Given the description of an element on the screen output the (x, y) to click on. 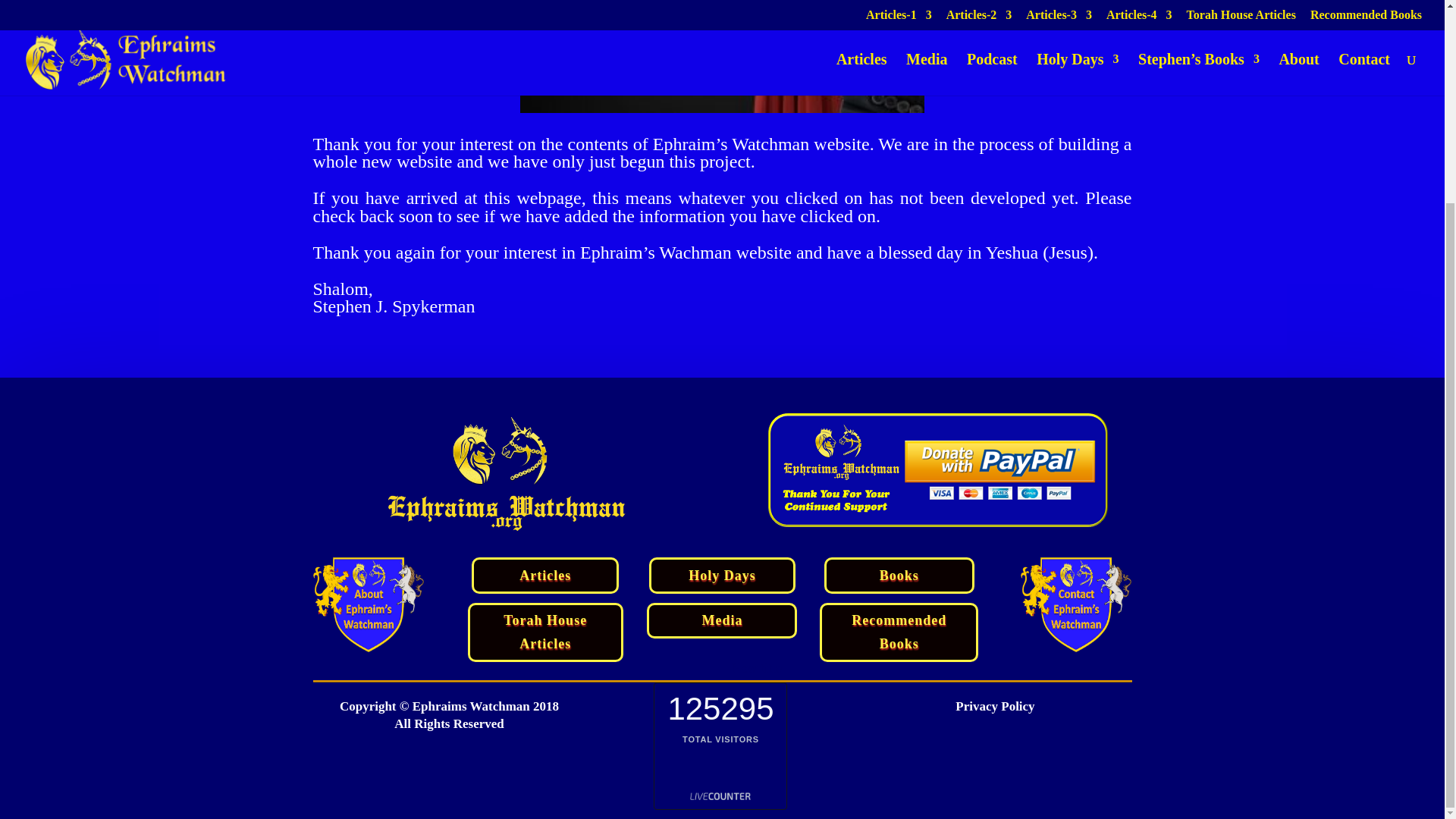
Contact Ephraim's Watchman (1076, 604)
Ephraims Watchman logo New Brighter (506, 473)
Coming Soon (721, 56)
PayPal Donate (938, 470)
About Ephraim's Watchman (368, 604)
